Given the description of an element on the screen output the (x, y) to click on. 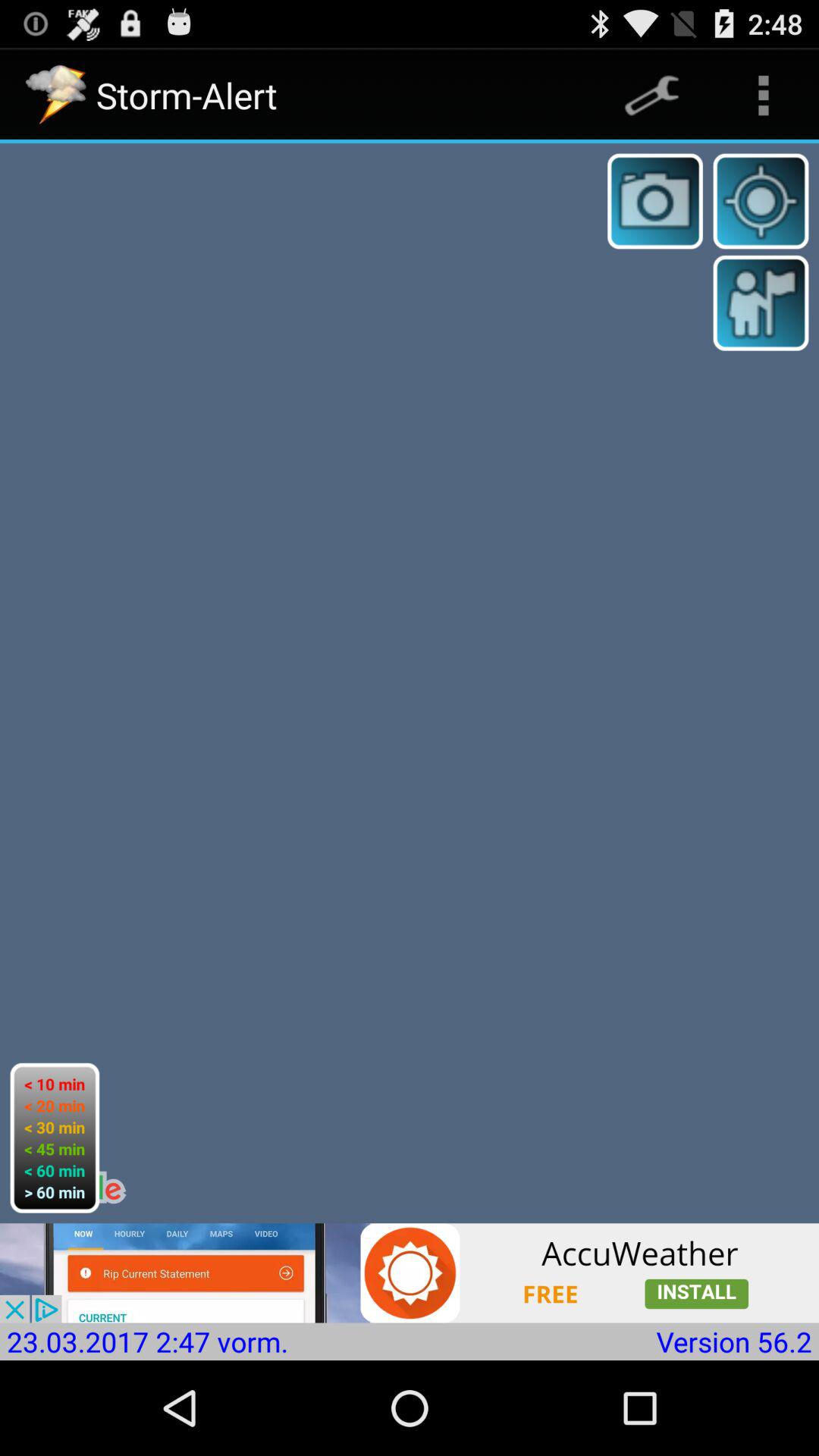
advertisement for weather app (409, 1272)
